Given the description of an element on the screen output the (x, y) to click on. 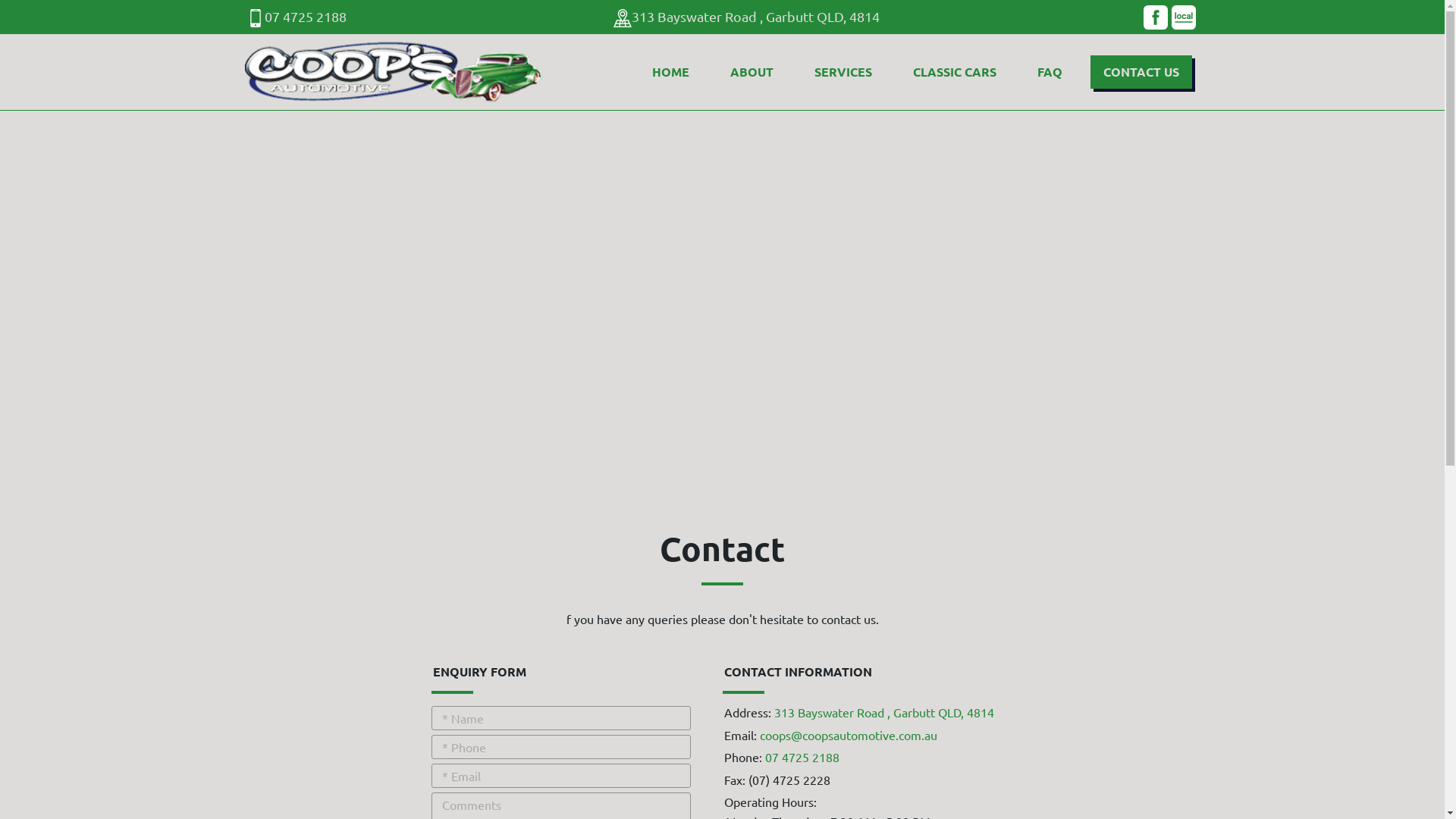
313 Bayswater Road , Garbutt QLD, 4814 Element type: text (883, 711)
FAQ Element type: text (1049, 71)
coops@coopsautomotive.com.au Element type: text (848, 734)
www.localsearch.com.au Element type: hover (1183, 16)
Email Element type: hover (560, 775)
CLASSIC CARS Element type: text (954, 71)
07 4725 2188 Element type: text (295, 16)
HOME Element type: text (670, 71)
313 Bayswater Road , Garbutt QLD, 4814 Element type: text (755, 16)
Coop's Automotive Element type: hover (393, 71)
SERVICES Element type: text (842, 71)
07 4725 2188 Element type: text (801, 756)
Phone Element type: hover (560, 746)
ABOUT Element type: text (751, 71)
CONTACT US Element type: text (1141, 71)
Name Element type: hover (560, 718)
